Given the description of an element on the screen output the (x, y) to click on. 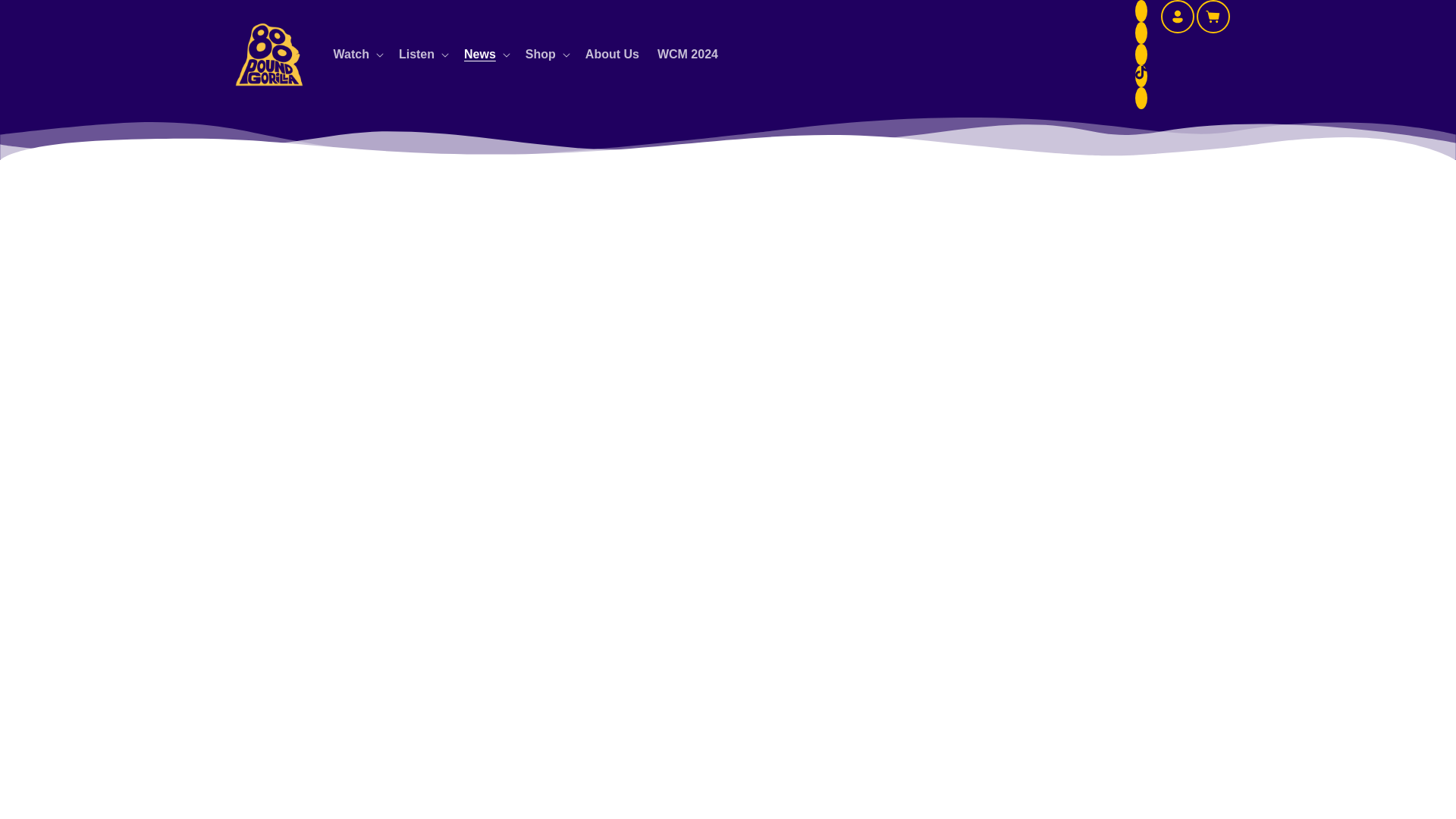
About Us (611, 54)
WCM 2024 (686, 54)
Skip to content (45, 17)
